Given the description of an element on the screen output the (x, y) to click on. 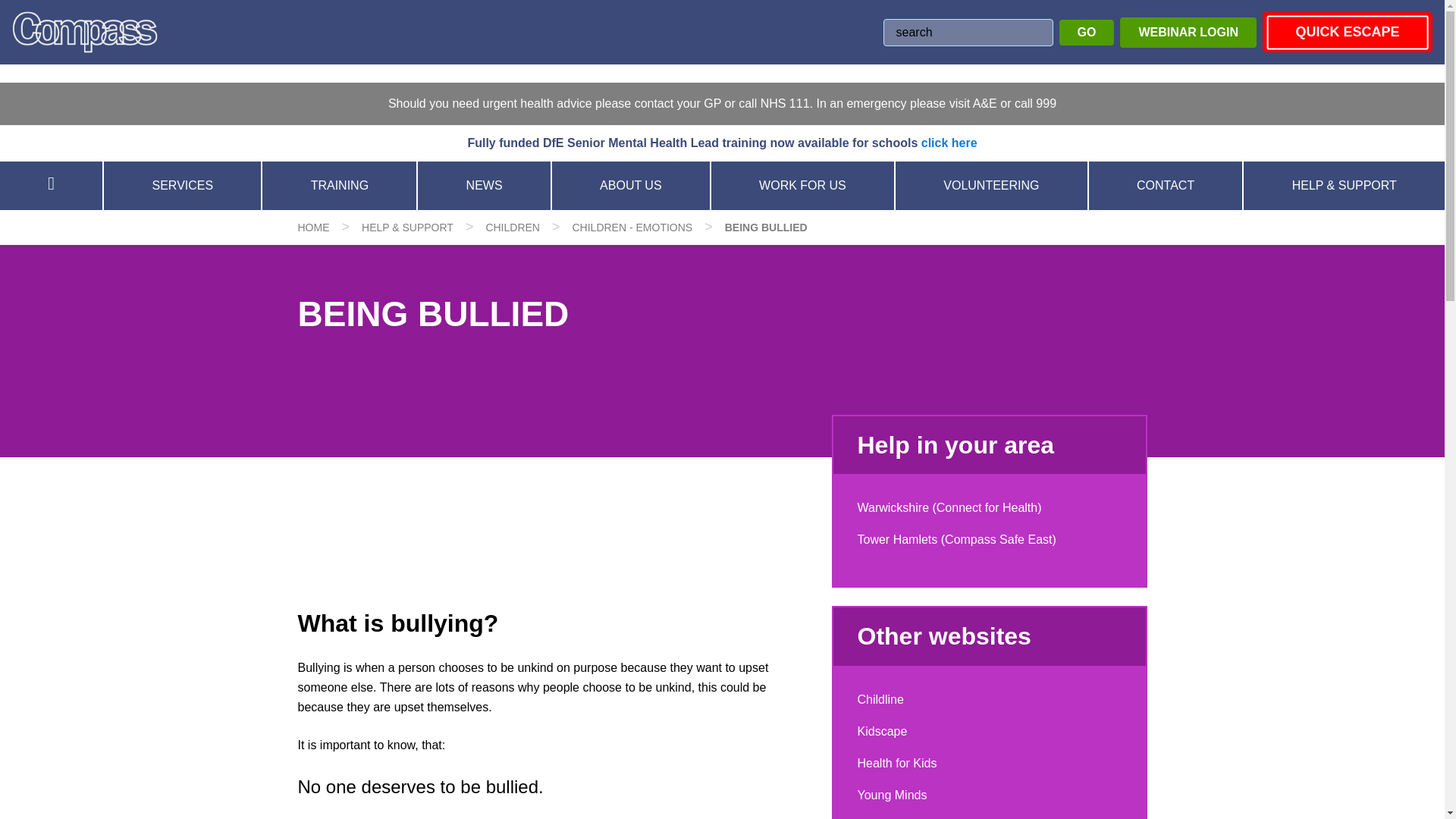
children (512, 227)
WEBINAR LOGIN (1187, 31)
Being bullied (766, 227)
QUICK ESCAPE (1347, 32)
GO (1087, 32)
SERVICES (181, 185)
children-emotions (632, 227)
Home (313, 227)
click here (948, 142)
skip to main content (53, 8)
